Given the description of an element on the screen output the (x, y) to click on. 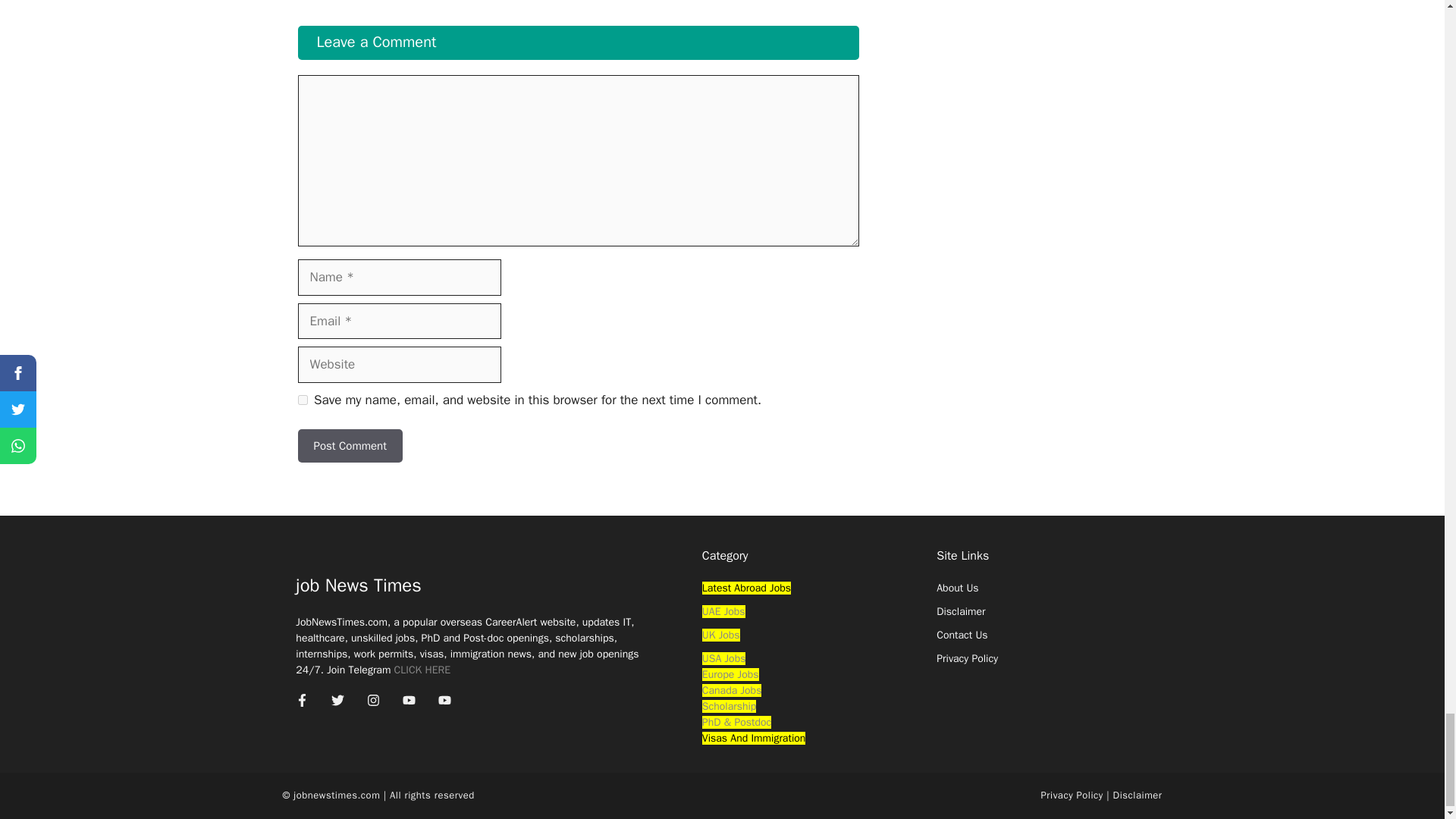
Post Comment (349, 446)
yes (302, 399)
